Given the description of an element on the screen output the (x, y) to click on. 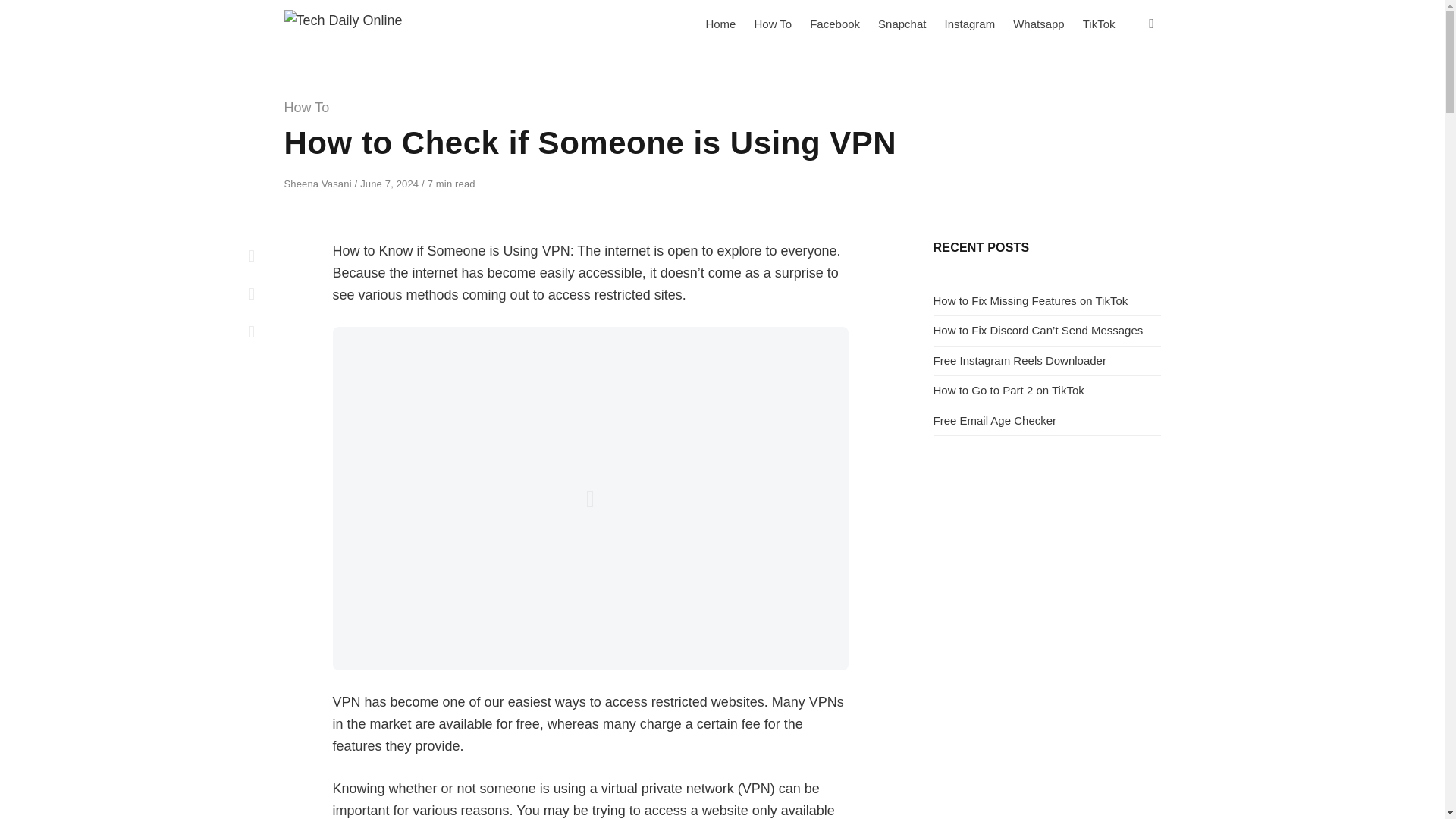
Home (719, 24)
Sheena Vasani (318, 183)
June 7, 2024 (390, 183)
How To (772, 24)
How to Go to Part 2 on TikTok (1008, 390)
Facebook (834, 24)
Whatsapp (1039, 24)
How to Fix Missing Features on TikTok (1029, 300)
How To (306, 107)
June 7, 2024 (390, 183)
Free Email Age Checker (995, 420)
Instagram (969, 24)
TikTok (1099, 24)
Snapchat (901, 24)
